Given the description of an element on the screen output the (x, y) to click on. 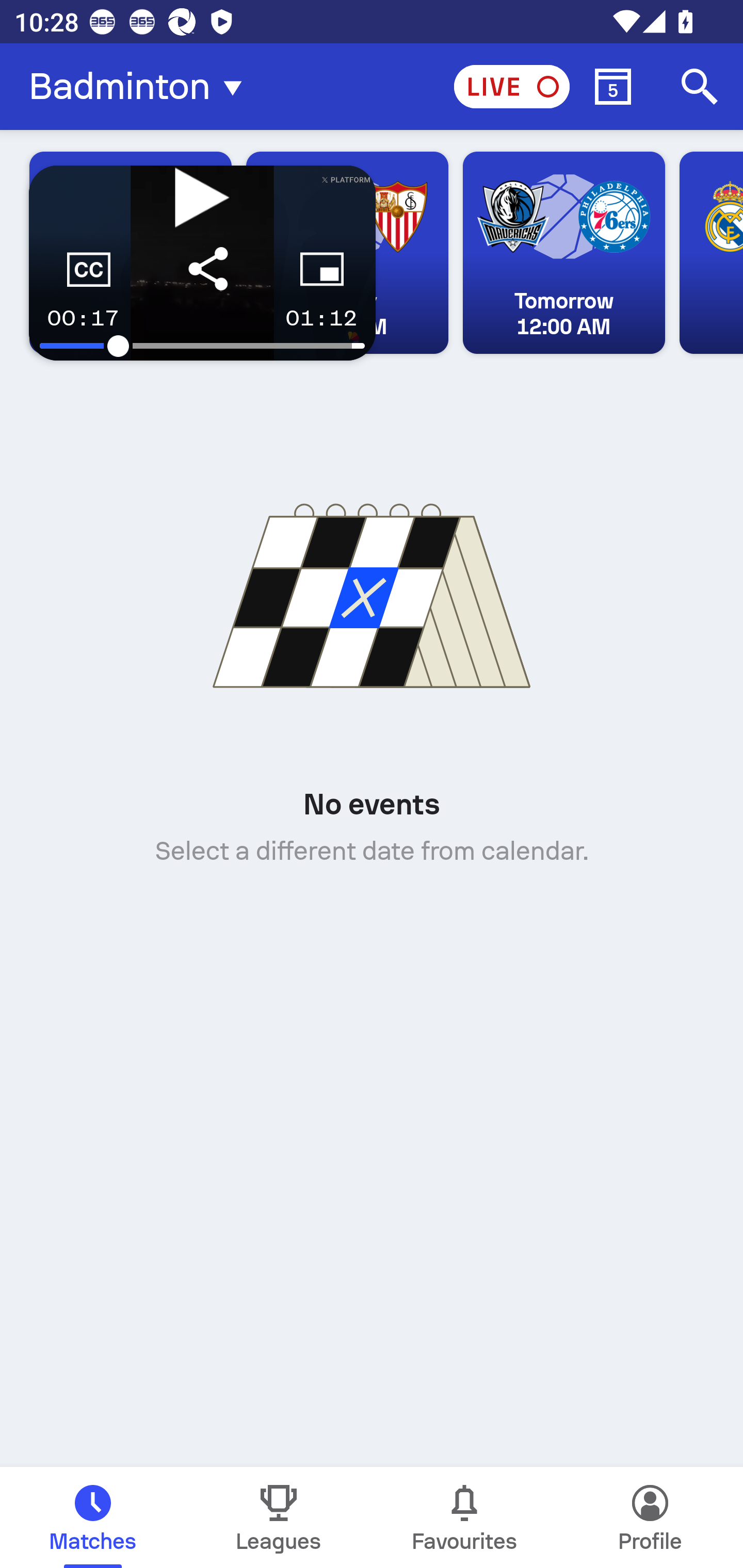
Badminton (141, 86)
Calendar (612, 86)
Search (699, 86)
Tomorrow
12:00 AM (563, 253)
No events Select a different date from calendar. (371, 663)
Leagues (278, 1517)
Favourites (464, 1517)
Profile (650, 1517)
